Given the description of an element on the screen output the (x, y) to click on. 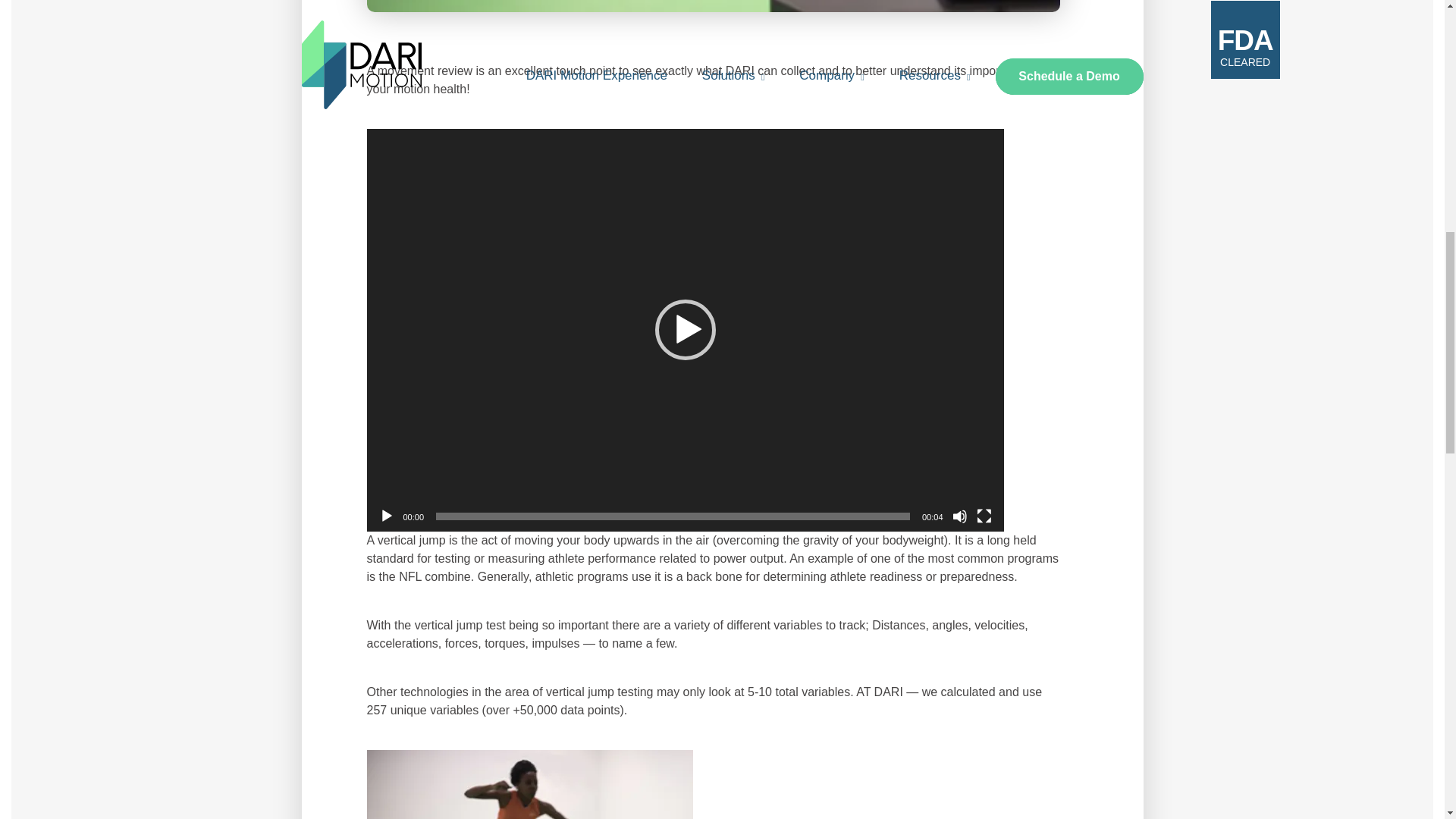
Mute (960, 516)
Play (386, 516)
Fullscreen (983, 516)
